Given the description of an element on the screen output the (x, y) to click on. 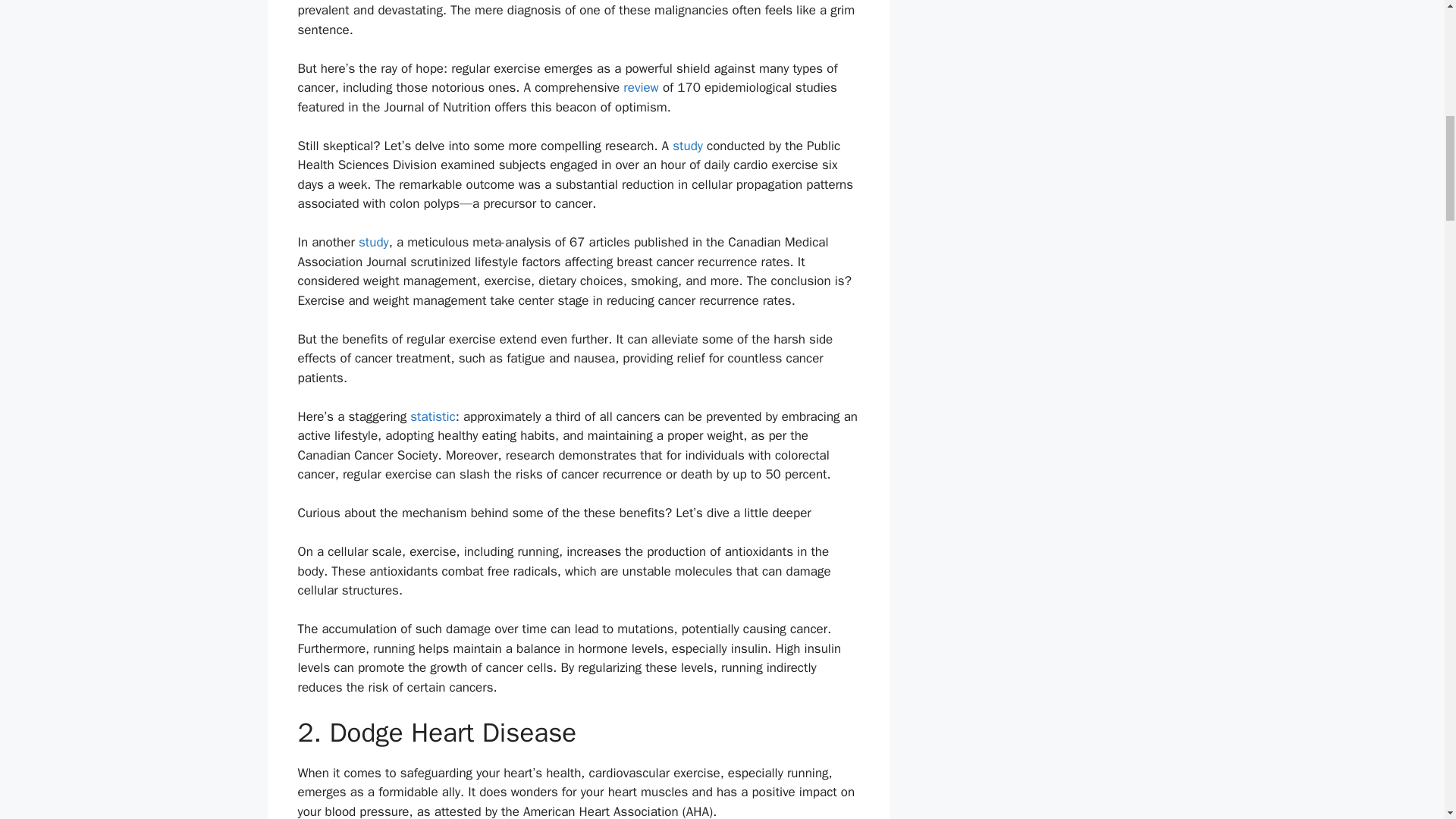
review (641, 87)
study (687, 145)
study (373, 242)
statistic (432, 416)
